Given the description of an element on the screen output the (x, y) to click on. 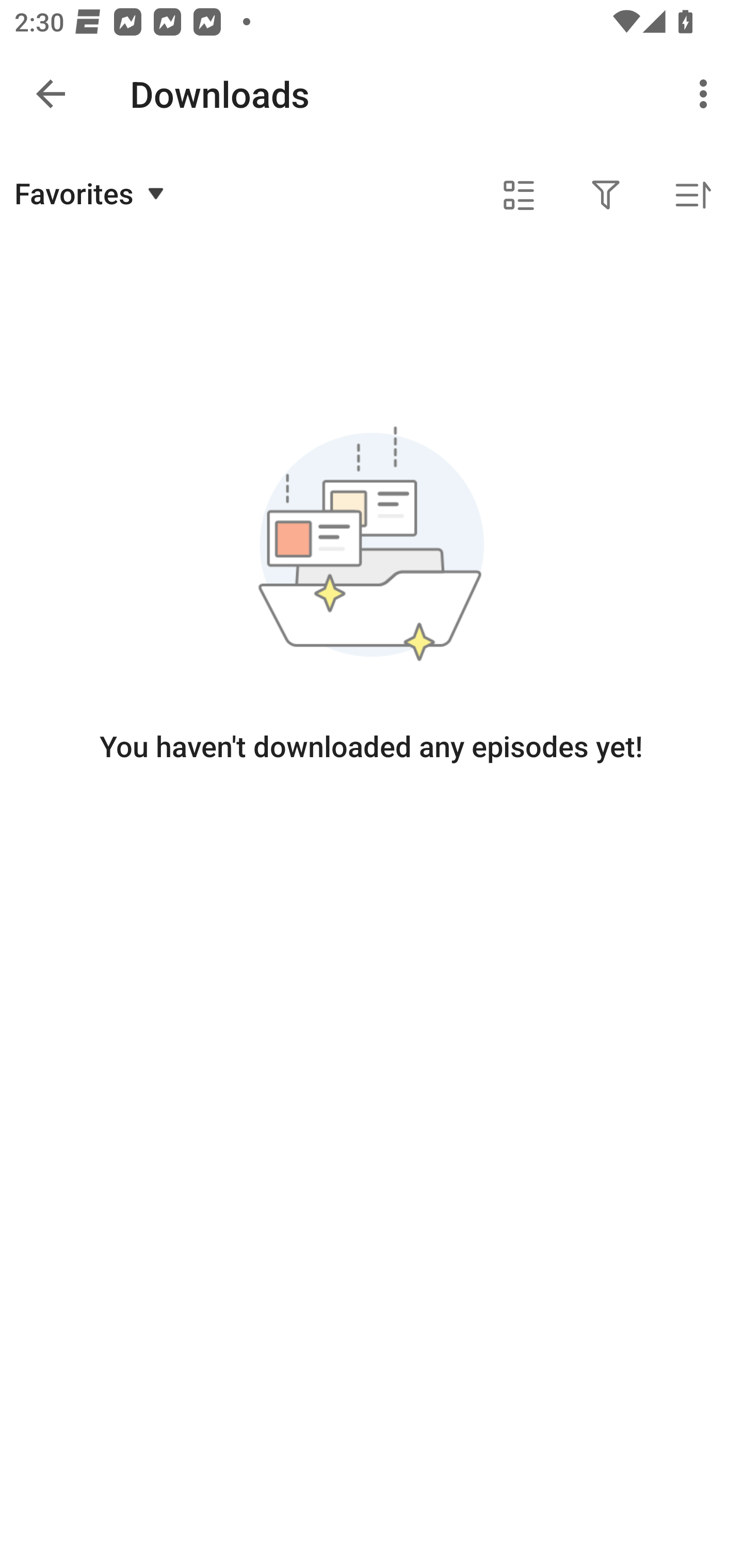
Navigate up (50, 93)
More options (706, 93)
Favorites (92, 192)
 (518, 195)
 (605, 195)
 Sorted by oldest first (692, 195)
